Given the description of an element on the screen output the (x, y) to click on. 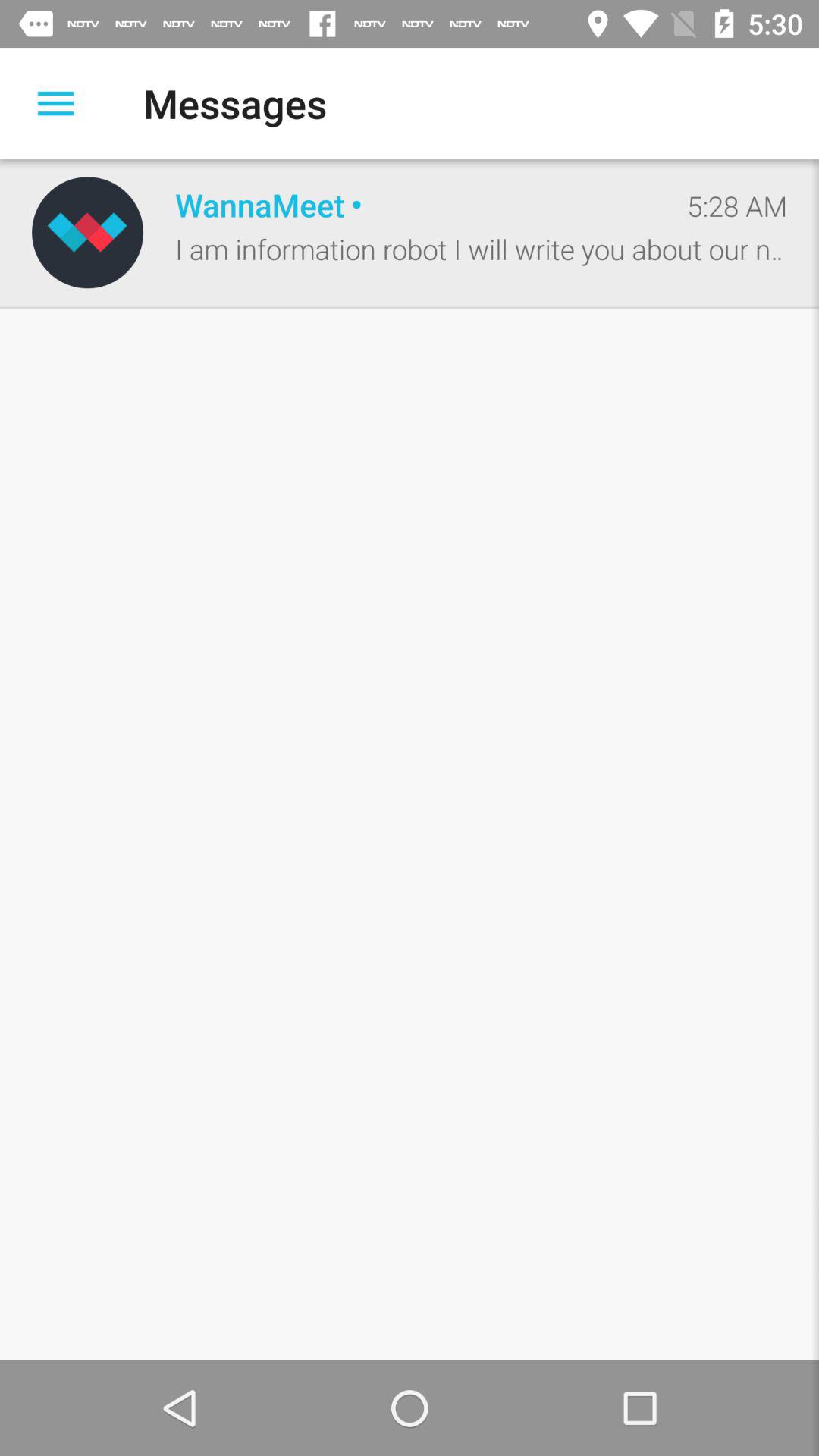
open the icon below the messages item (415, 204)
